Given the description of an element on the screen output the (x, y) to click on. 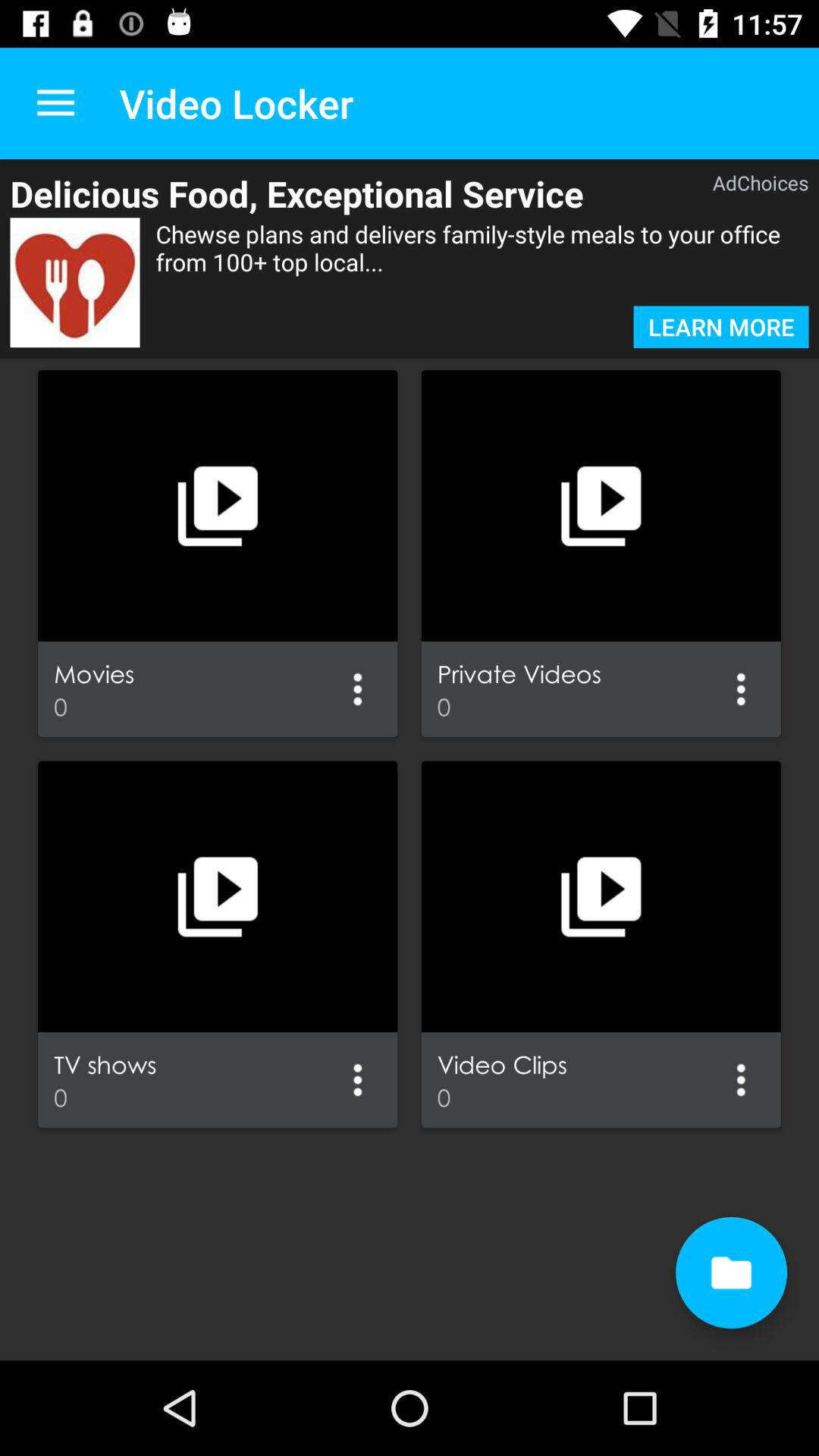
choose item below the delicious food exceptional item (74, 282)
